Given the description of an element on the screen output the (x, y) to click on. 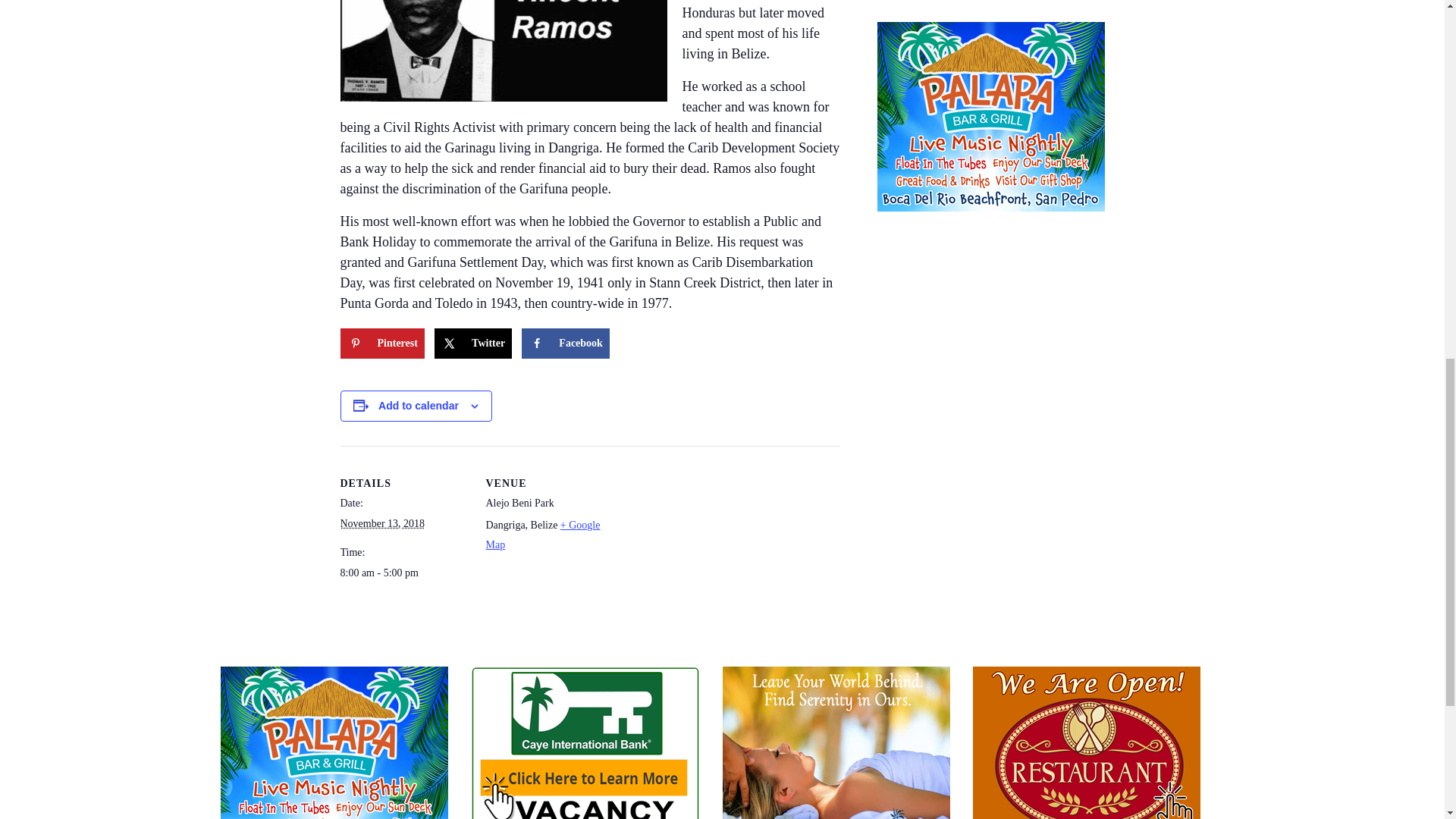
2018-11-13 (403, 573)
2018-11-13 (382, 523)
Google maps iframe displaying the address to Alejo Beni Park (710, 550)
Share on X (472, 343)
Click to view a Google Map (541, 534)
Share on Facebook (565, 343)
Save to Pinterest (381, 343)
